Given the description of an element on the screen output the (x, y) to click on. 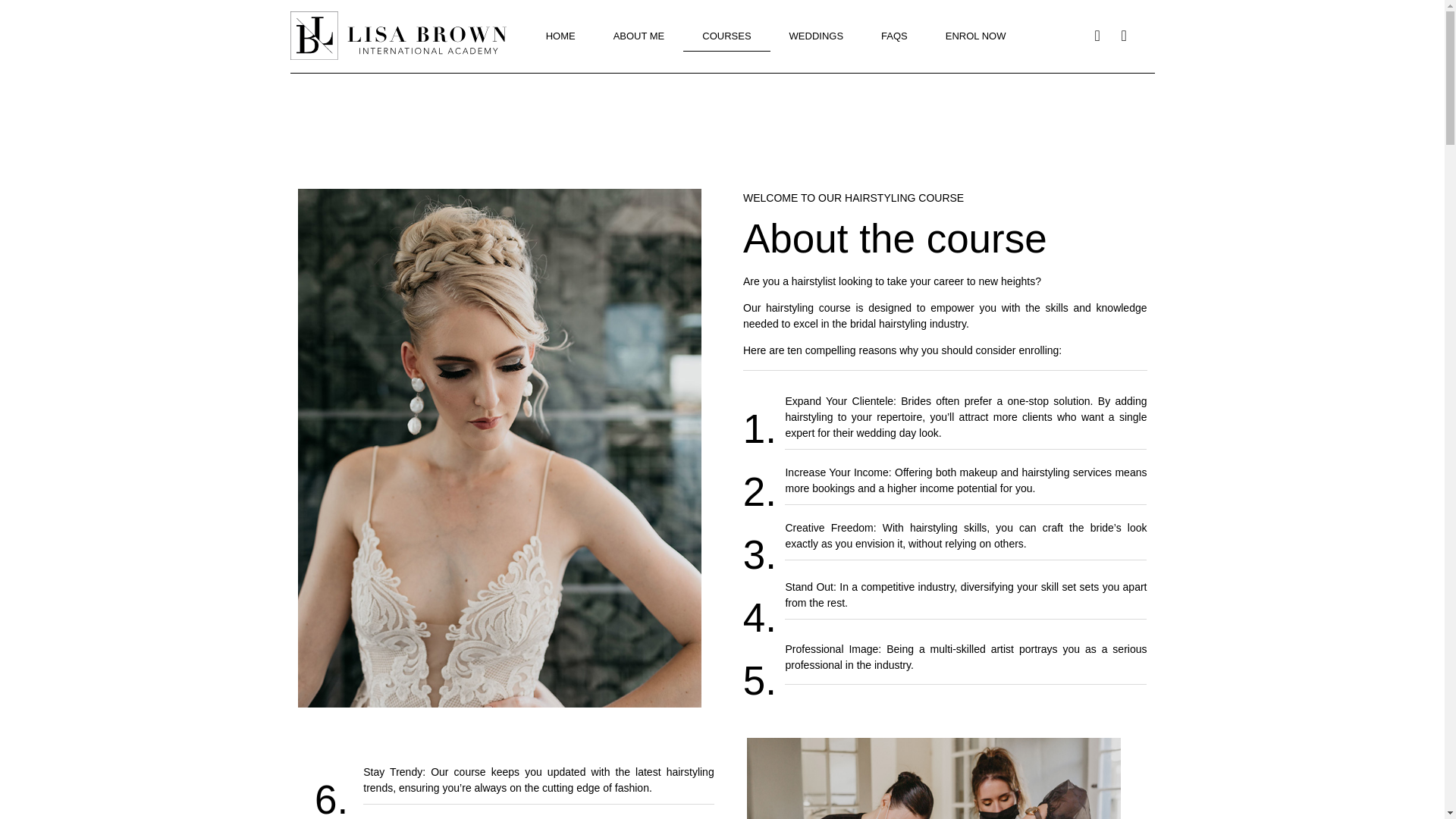
ENROL NOW (975, 36)
ABOUT ME (639, 36)
HOME (560, 36)
COURSES (726, 36)
WEDDINGS (816, 36)
FAQS (893, 36)
